Given the description of an element on the screen output the (x, y) to click on. 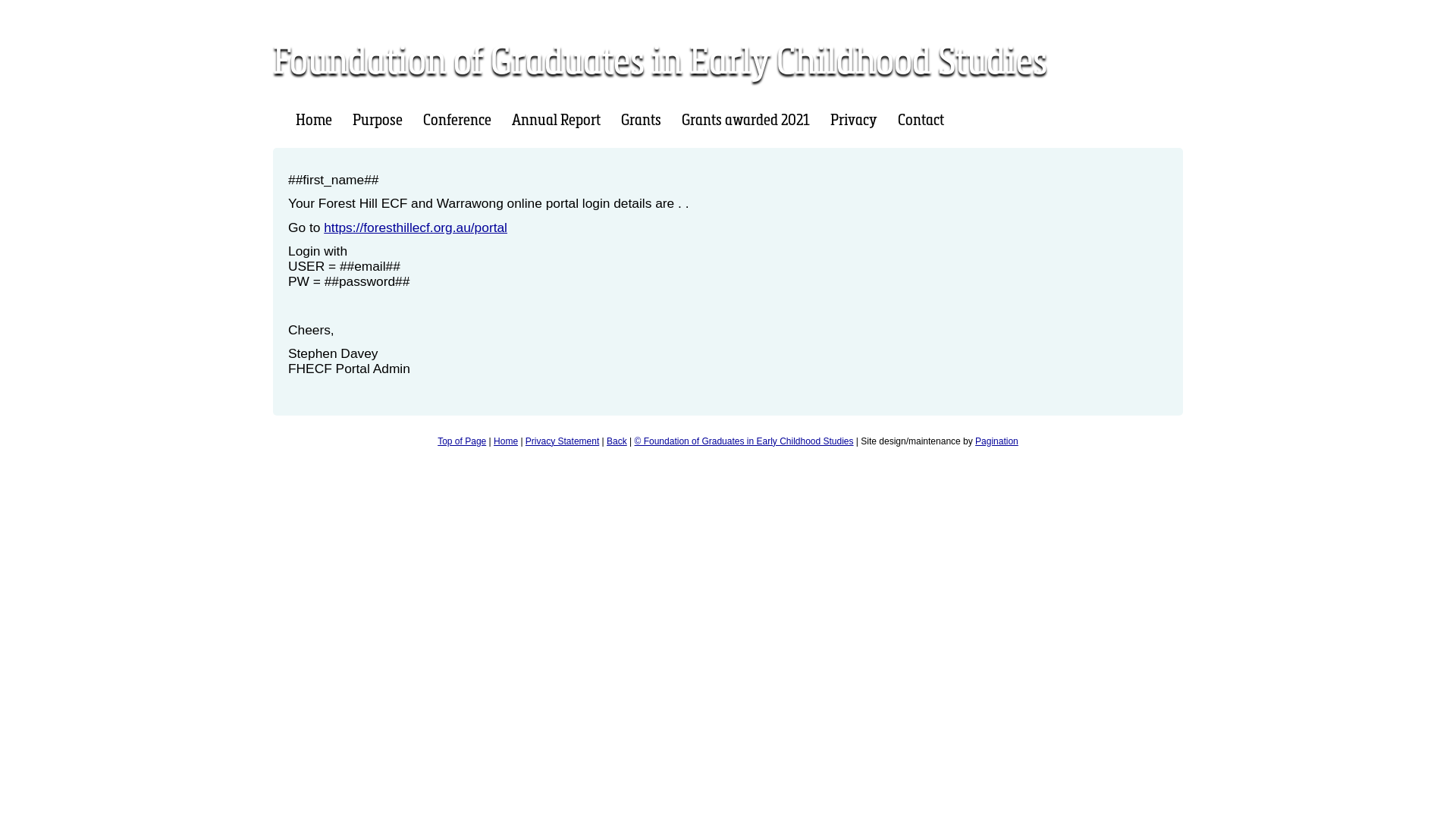
Privacy Statement Element type: text (562, 441)
Pagination Element type: text (996, 441)
Top of Page Element type: text (461, 441)
Back Element type: text (616, 441)
Home Element type: text (505, 441)
https://foresthillecf.org.au/portal Element type: text (415, 227)
